Given the description of an element on the screen output the (x, y) to click on. 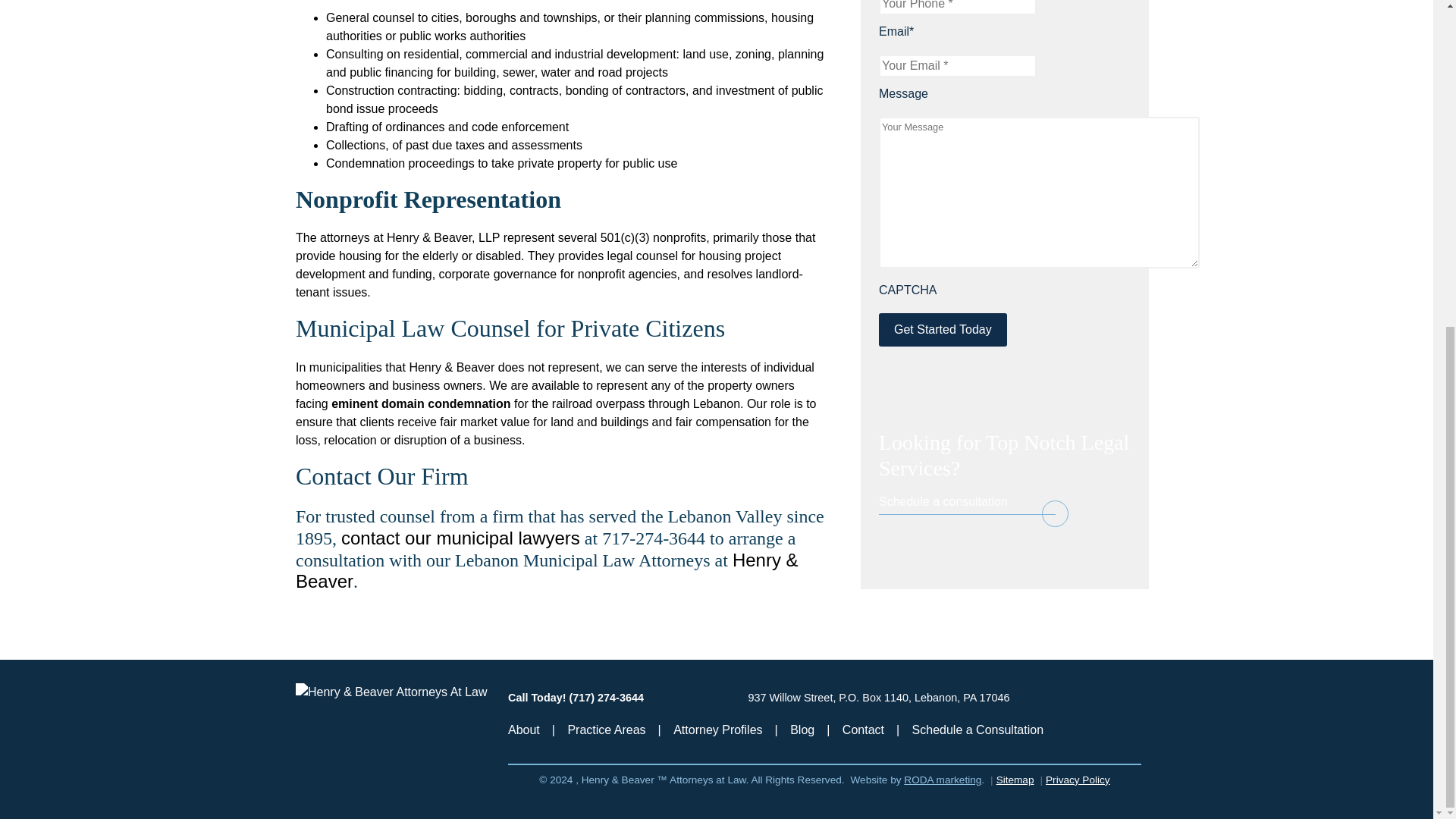
Schedule a Consultation (977, 729)
Blog (801, 729)
937 Willow Street, P.O. Box 1140, Lebanon, PA 17046 (878, 697)
About (524, 729)
RODA marketing (942, 779)
contact our municipal lawyers (459, 537)
Get Started Today (943, 329)
Get Started Today (943, 329)
Sitemap (1014, 779)
Contact (863, 729)
Attorney Profiles (716, 729)
Privacy Policy (1077, 779)
Practice Areas (606, 729)
